Given the description of an element on the screen output the (x, y) to click on. 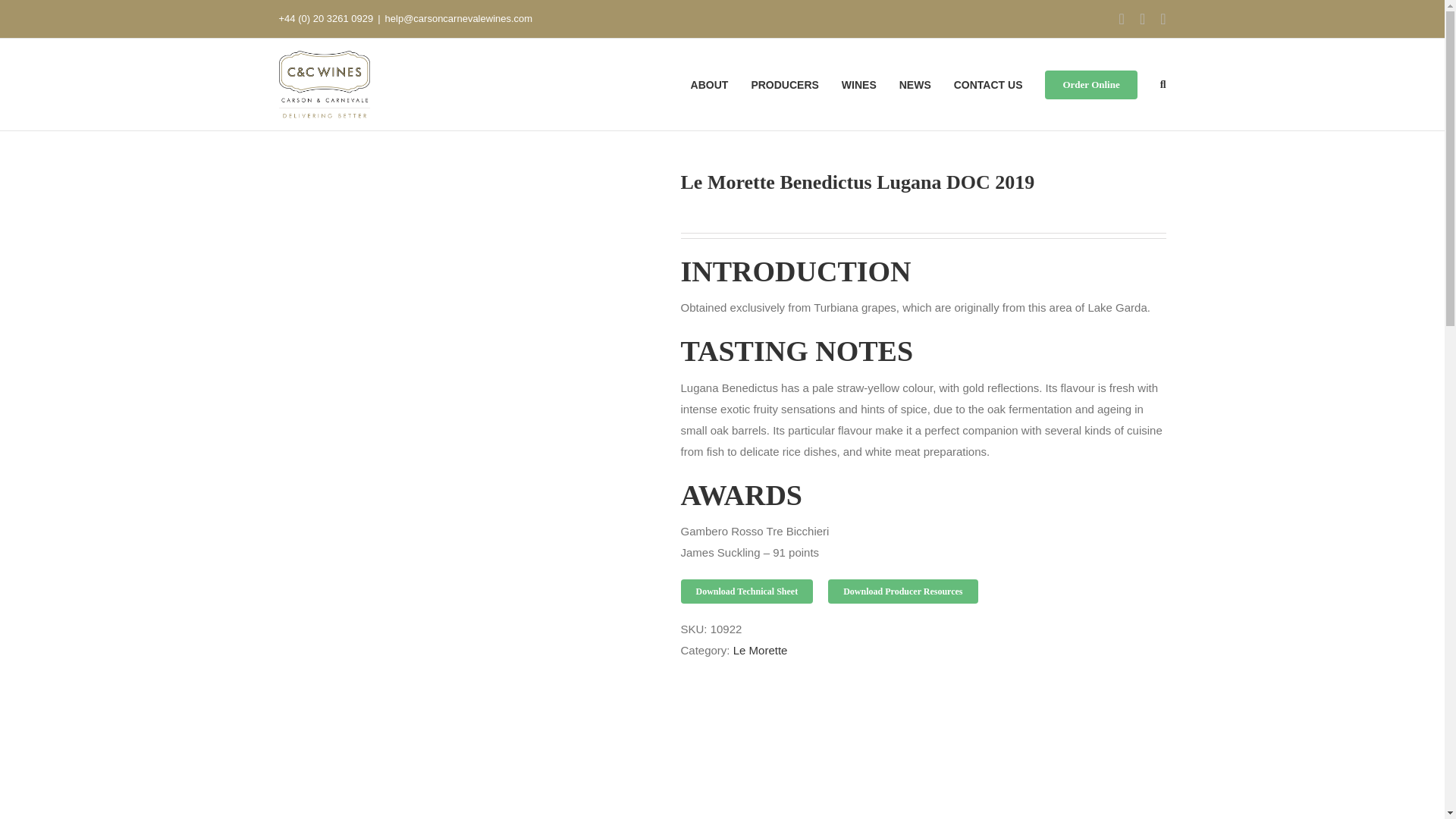
Order Online (1091, 84)
Download Technical Sheet (747, 591)
Download Producer Resources (902, 591)
Le Morette (760, 649)
